Given the description of an element on the screen output the (x, y) to click on. 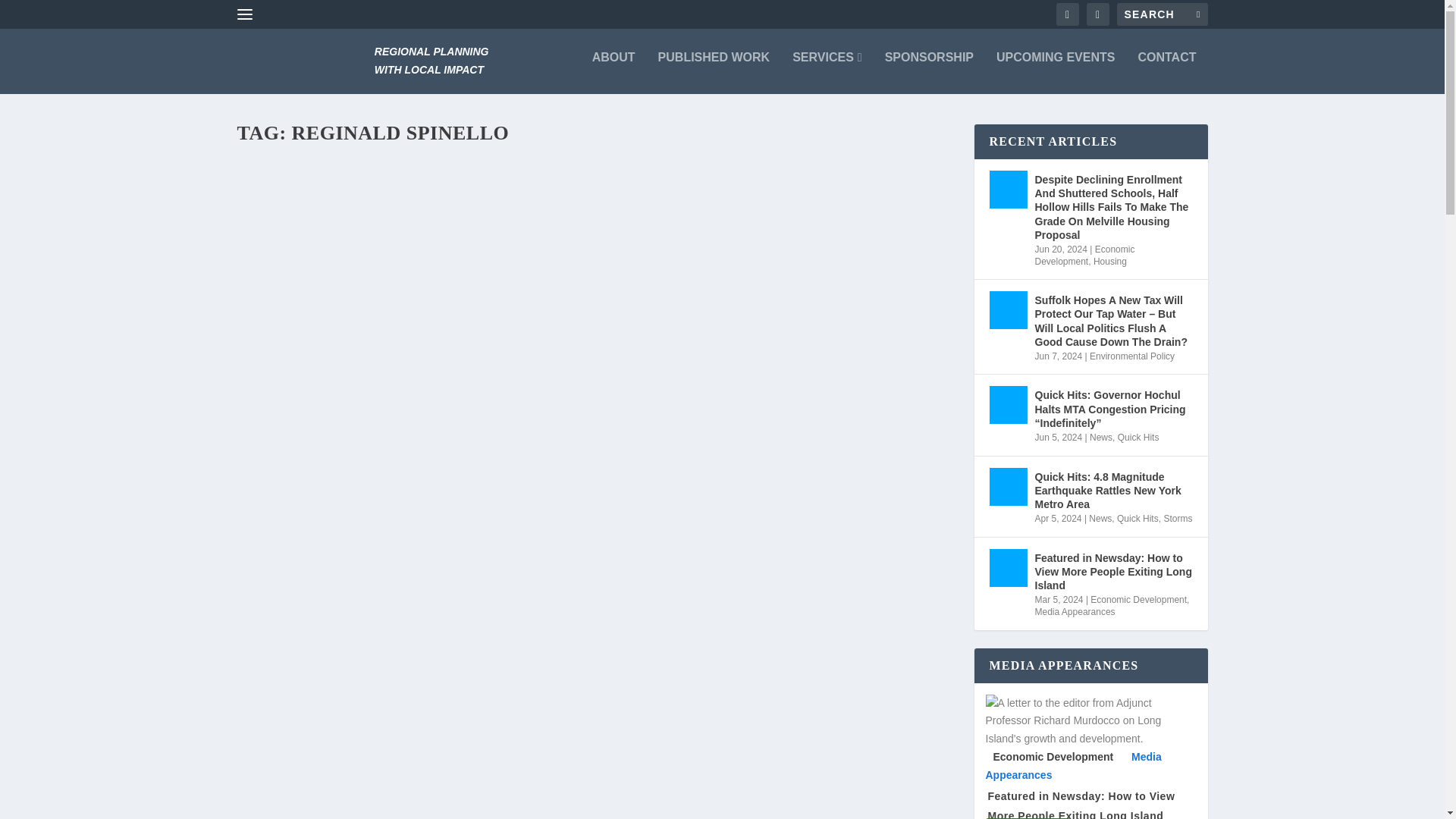
SERVICES (826, 61)
PUBLISHED WORK (714, 61)
Quick Hits (1138, 437)
UPCOMING EVENTS (1055, 61)
Environmental Policy (1131, 356)
News (1100, 437)
SPONSORSHIP (929, 61)
CONTACT (1166, 61)
